Given the description of an element on the screen output the (x, y) to click on. 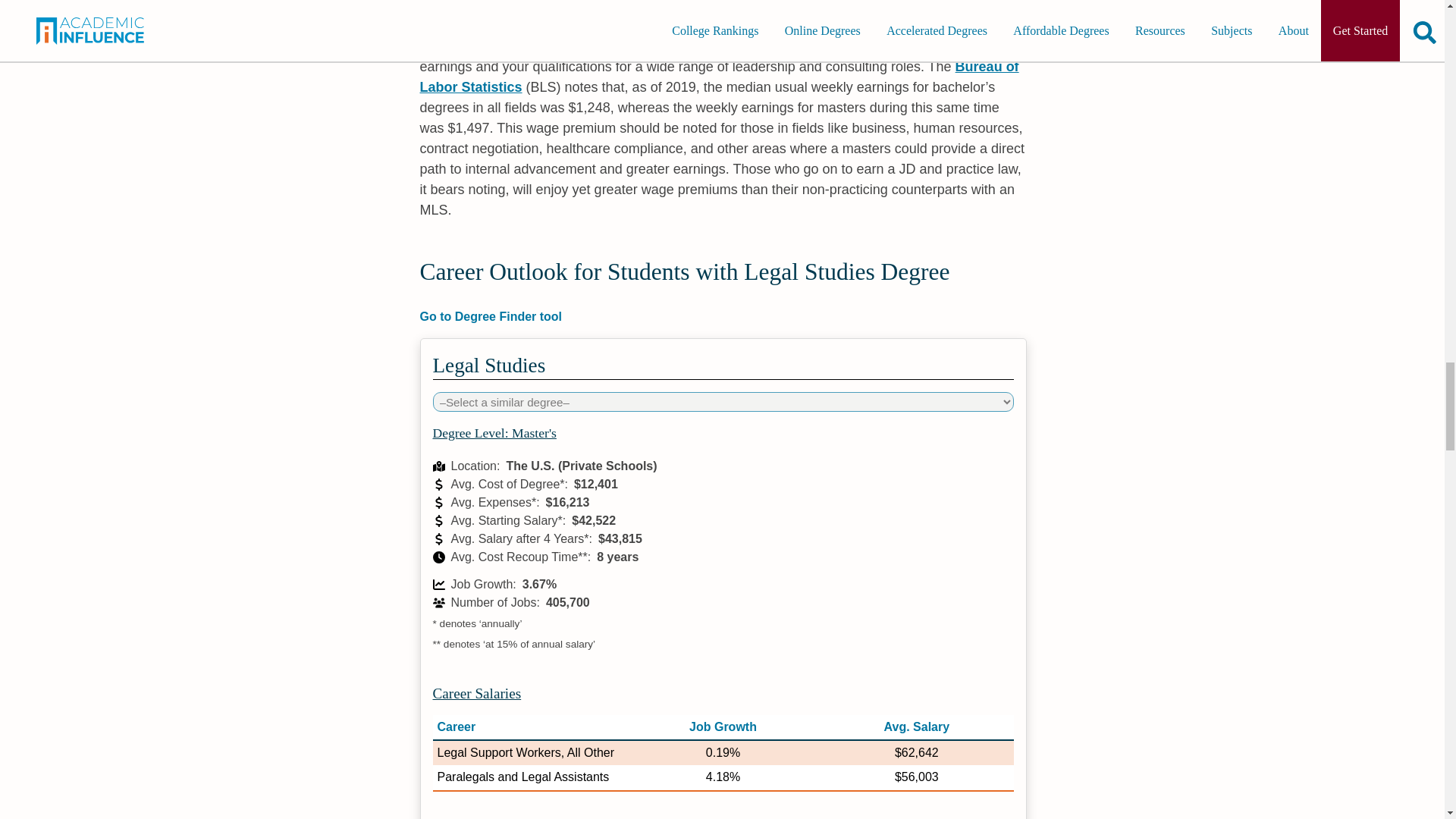
Go to Degree Finder tool (723, 316)
Bureau of Labor Statistics (719, 76)
